Given the description of an element on the screen output the (x, y) to click on. 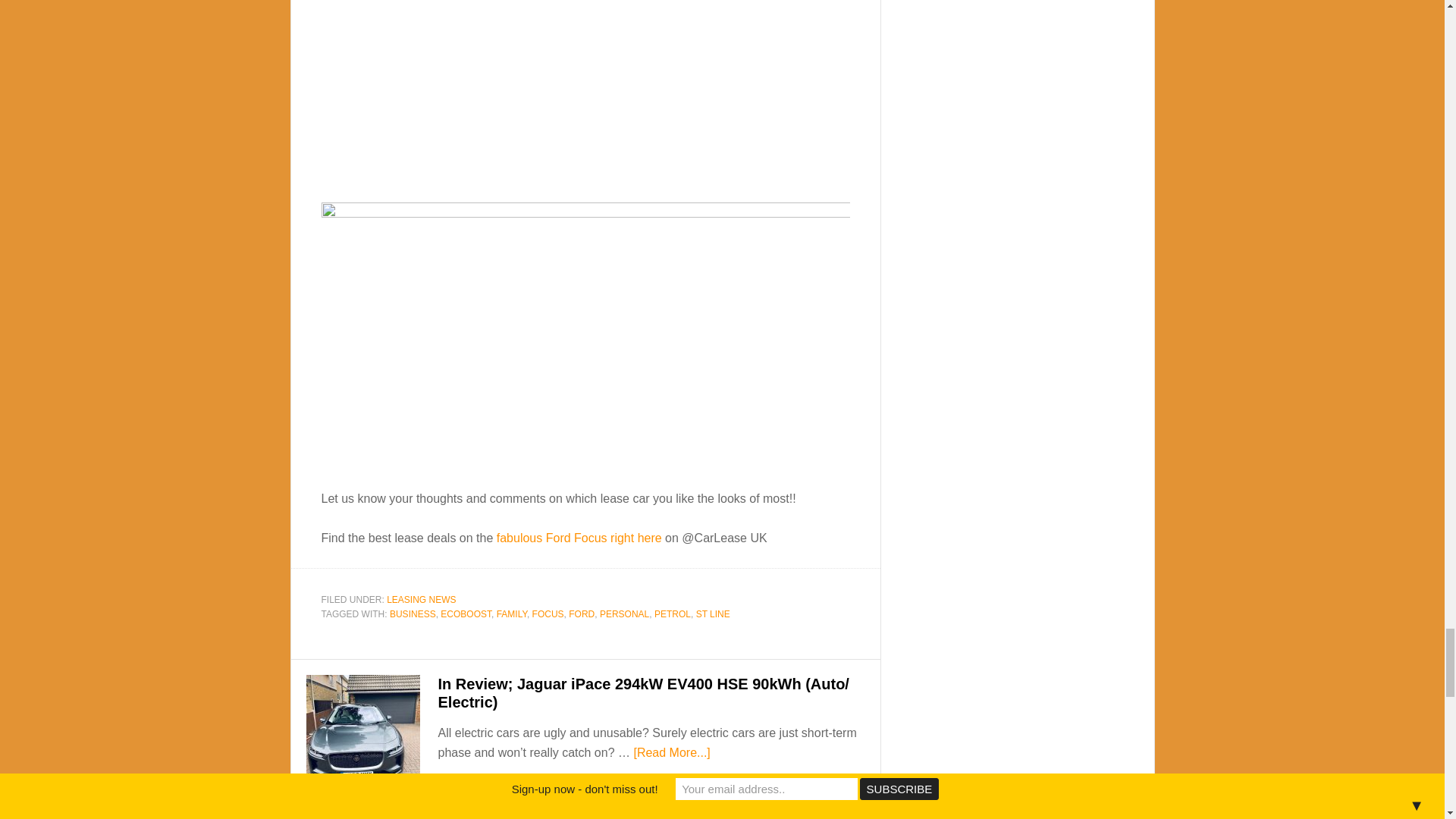
fabulous Ford Focus right here (579, 537)
LEASING NEWS (421, 599)
BUSINESS (412, 614)
